Given the description of an element on the screen output the (x, y) to click on. 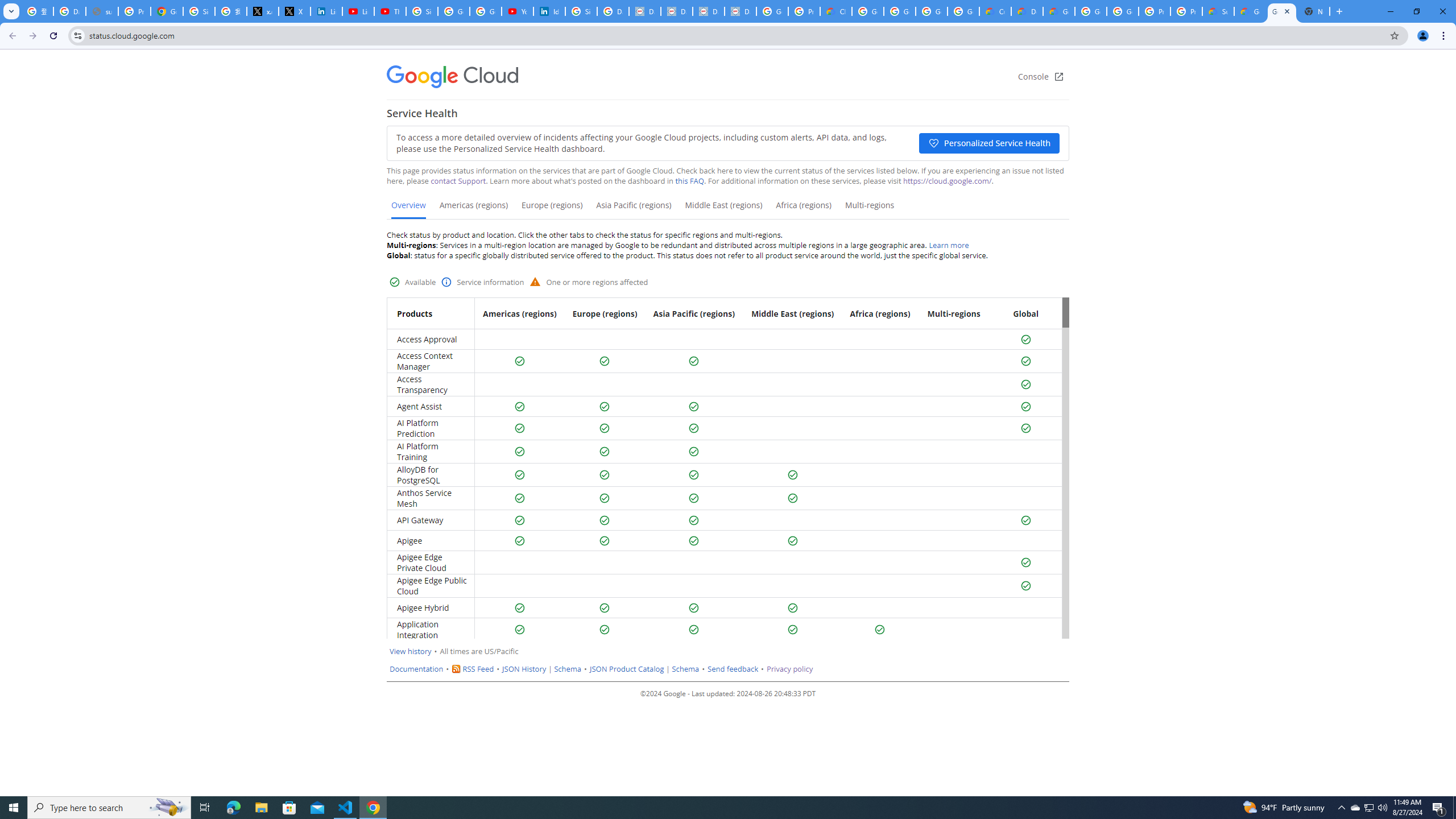
Americas (regions) (473, 209)
Google Cloud Platform (1091, 11)
Send feedback (732, 668)
Data Privacy Framework (708, 11)
Data Privacy Framework (676, 11)
Informational status (446, 281)
Google Cloud Service Health (1249, 11)
Google Workspace - Specific Terms (931, 11)
Multi-regions (868, 209)
